Given the description of an element on the screen output the (x, y) to click on. 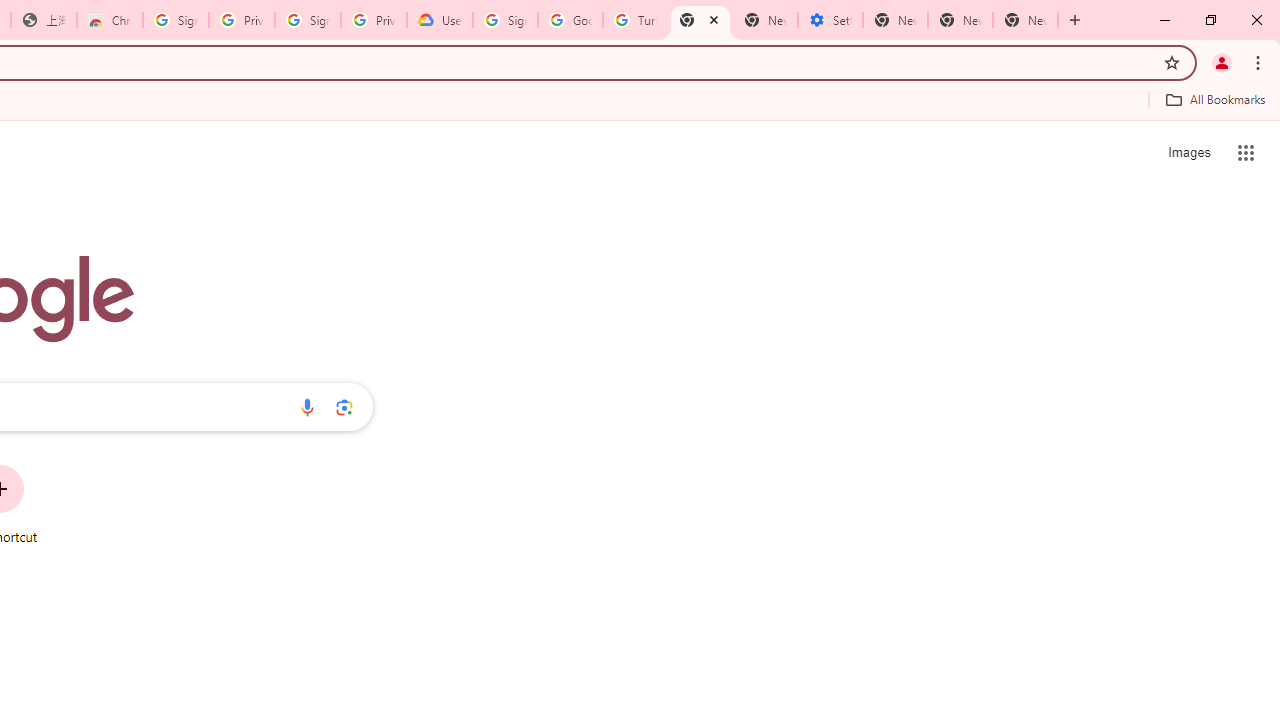
Sign in - Google Accounts (175, 20)
Chrome Web Store - Color themes by Chrome (109, 20)
Sign in - Google Accounts (307, 20)
New Tab (700, 20)
Google Account Help (569, 20)
Turn cookies on or off - Computer - Google Account Help (635, 20)
New Tab (1025, 20)
